Given the description of an element on the screen output the (x, y) to click on. 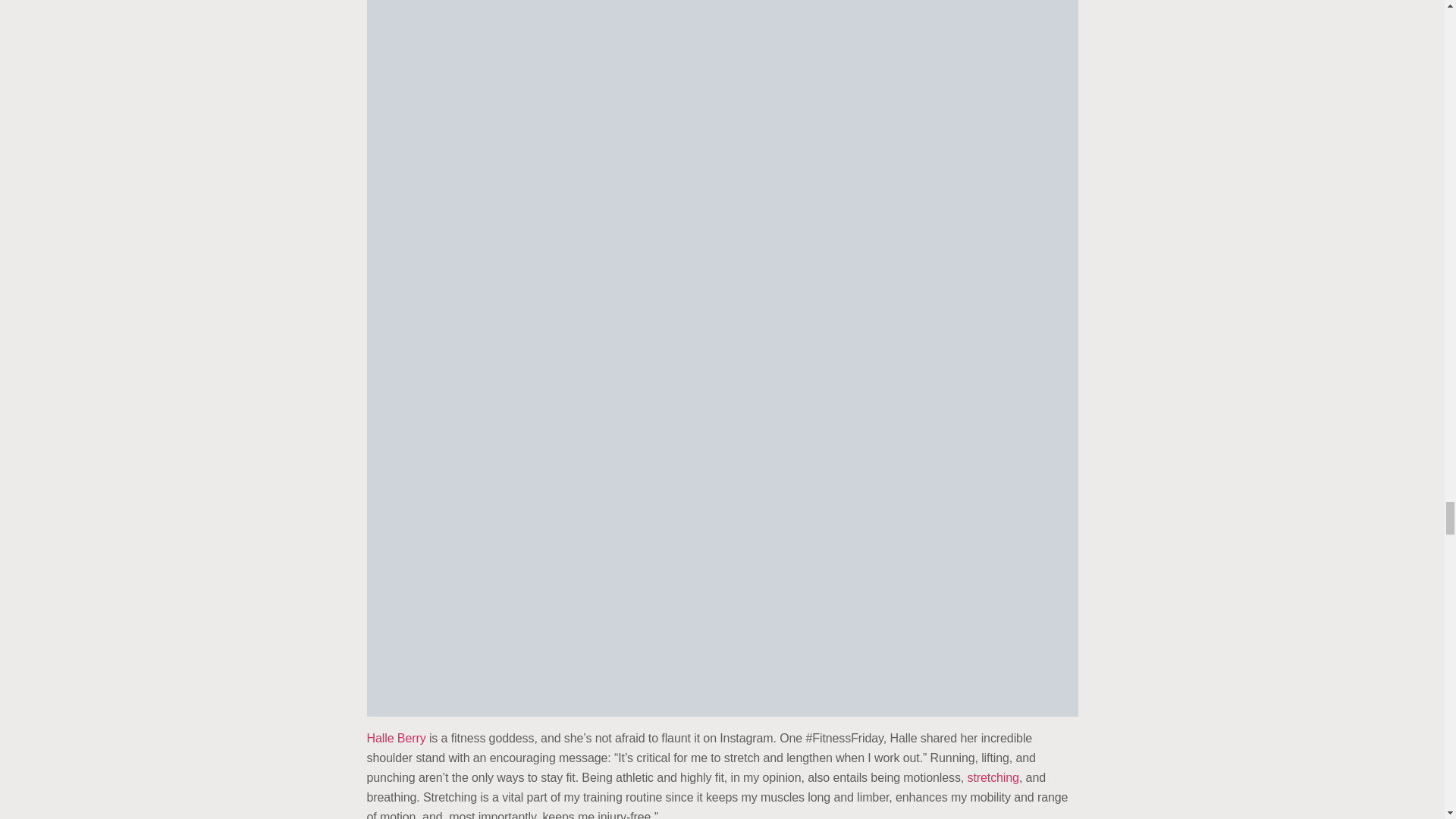
stretching (993, 777)
Halle Berry (396, 738)
